Given the description of an element on the screen output the (x, y) to click on. 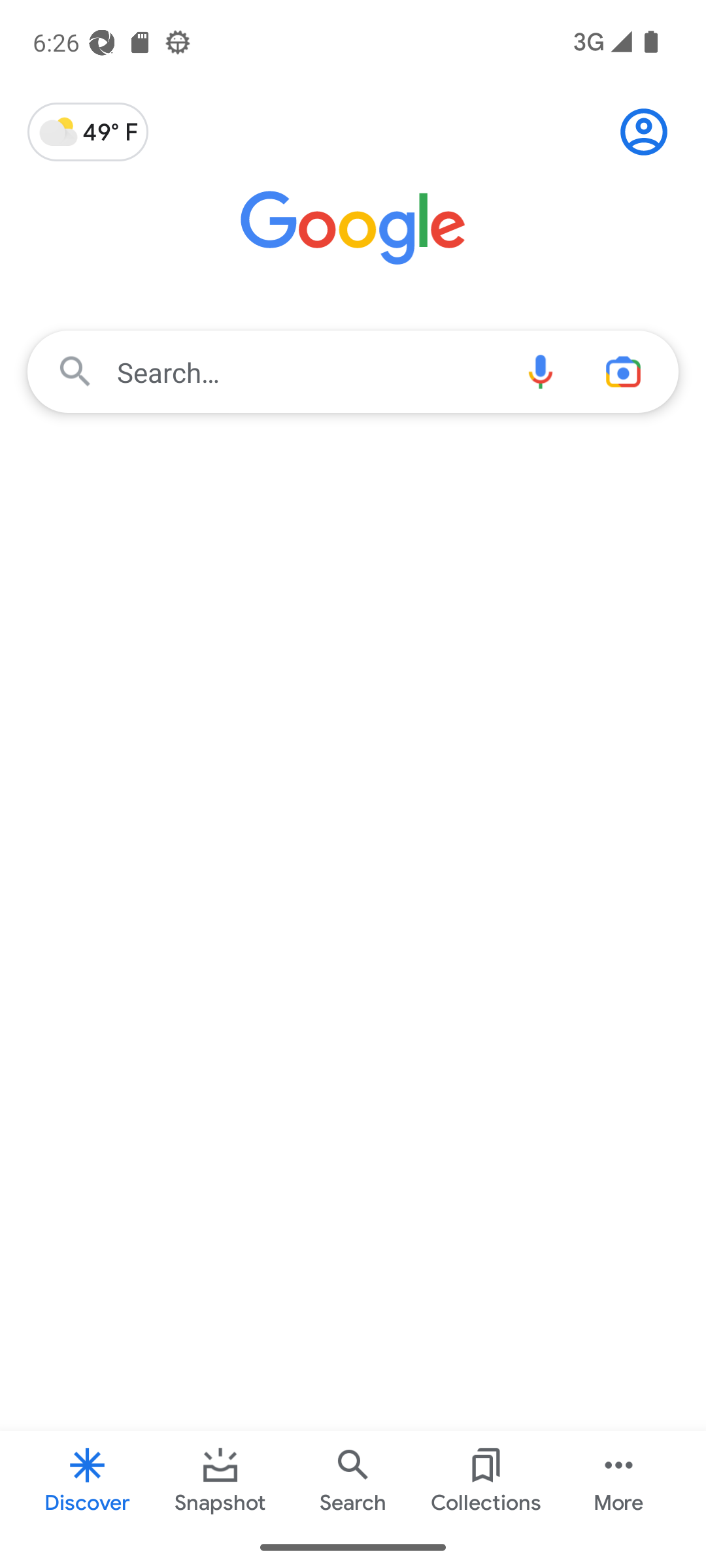
Cloudy 49° F (87, 131)
Open account menu (643, 131)
Search… Search… Voice search Camera search (352, 371)
Voice search (540, 371)
Camera search (629, 371)
Snapshot (220, 1478)
Search (352, 1478)
Collections Button Collections (485, 1478)
More (618, 1478)
